Given the description of an element on the screen output the (x, y) to click on. 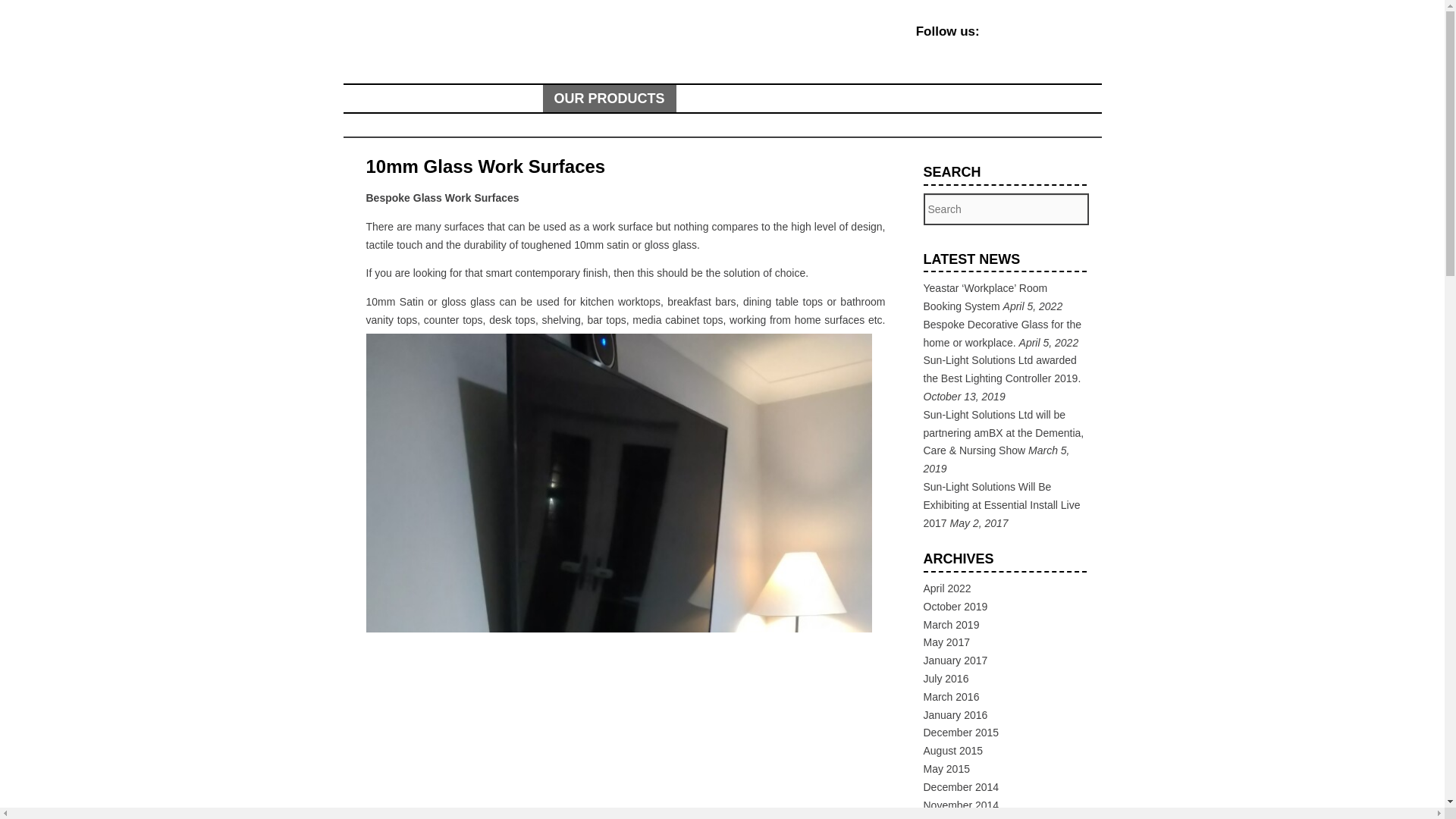
Permalink to 10mm Glass Work Surfaces (485, 166)
Skip to secondary content (460, 98)
SKIP TO PRIMARY CONTENT (448, 98)
OUR PRODUCTS (610, 98)
SKIP TO SECONDARY CONTENT (460, 98)
Skip to primary content (448, 98)
HOME (374, 98)
